Given the description of an element on the screen output the (x, y) to click on. 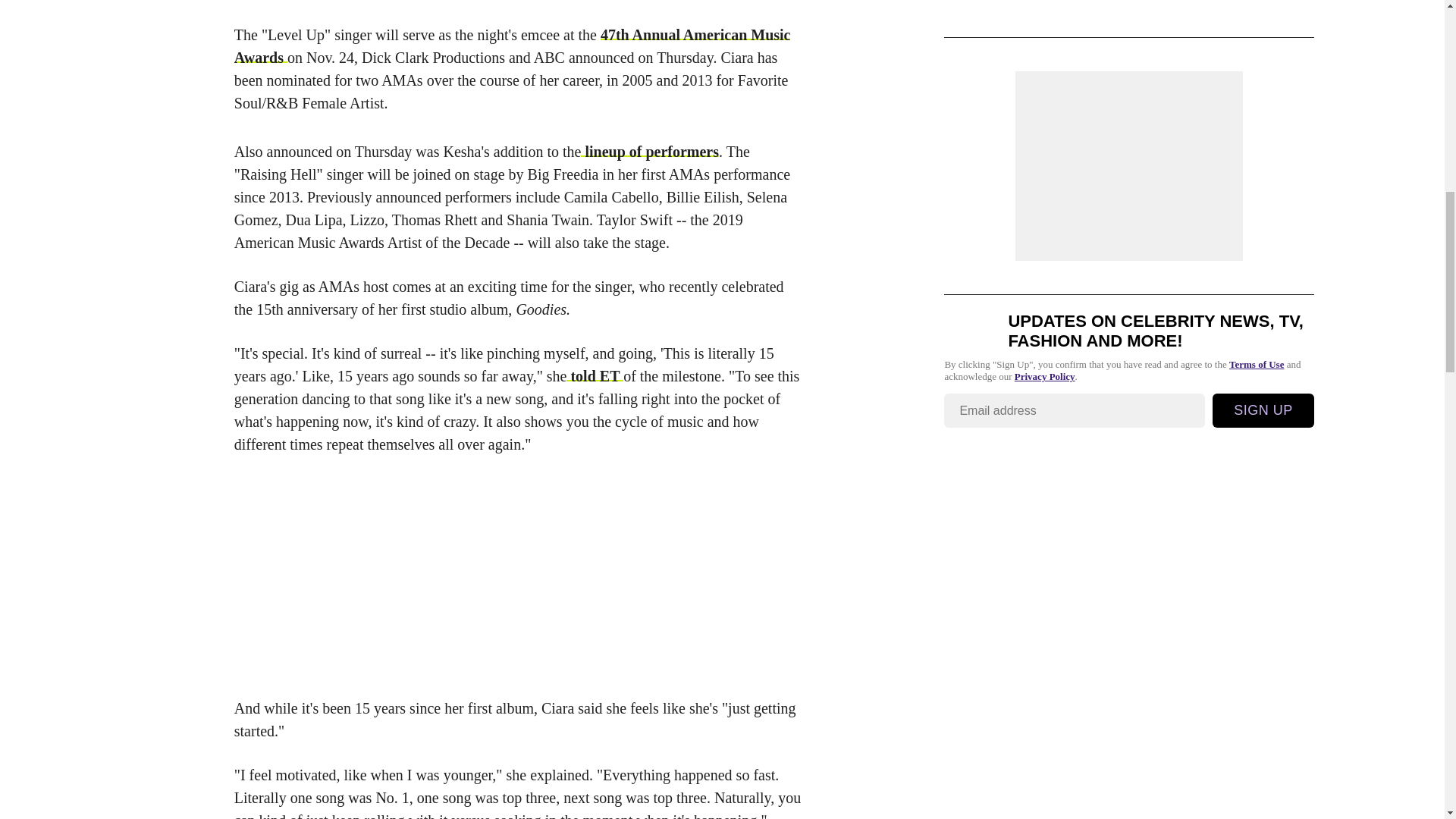
told ET (594, 375)
47th Annual American Music Awards (512, 46)
lineup of performers (649, 151)
